Given the description of an element on the screen output the (x, y) to click on. 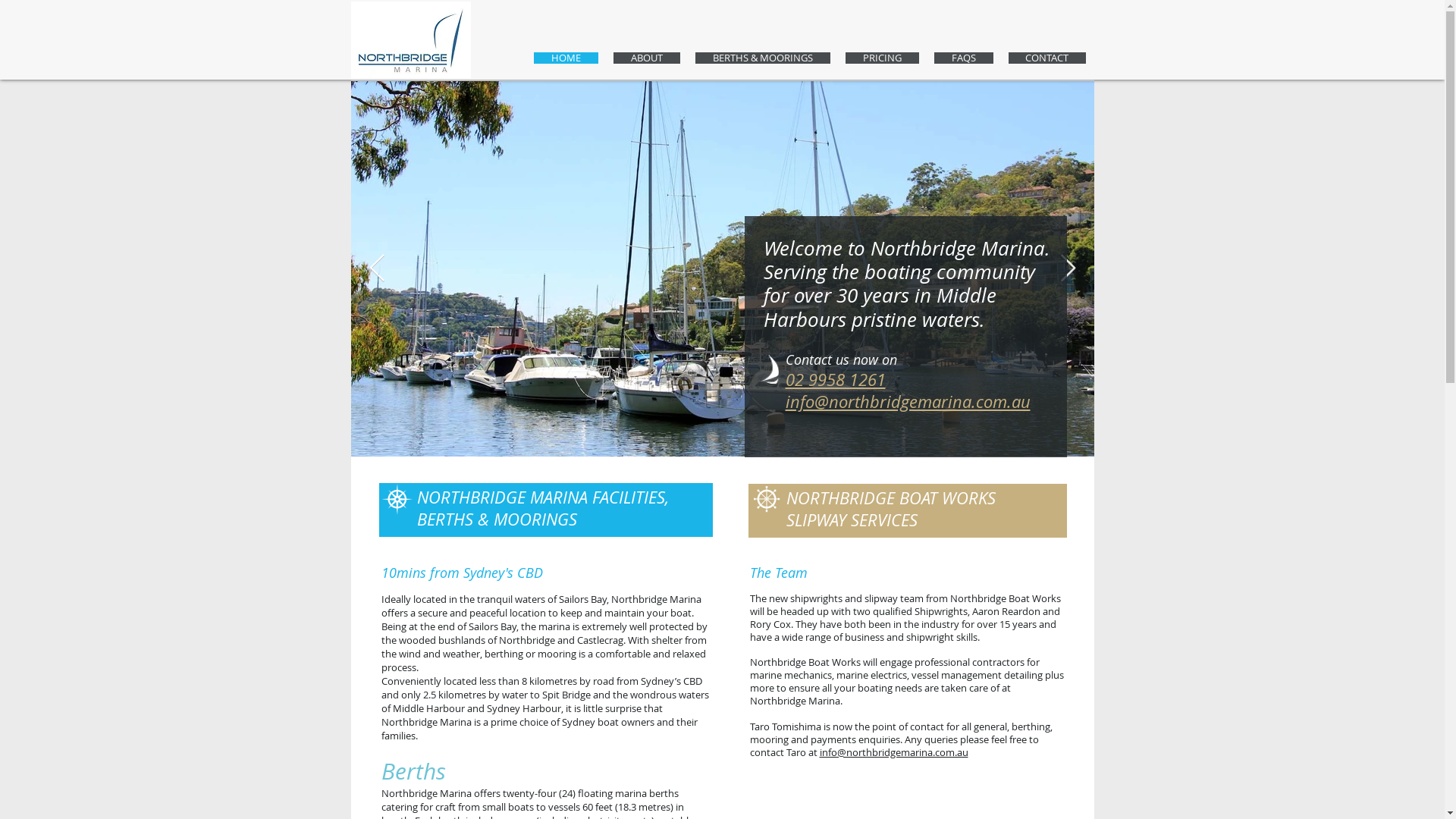
FAQS Element type: text (963, 57)
02 9958 1261 Element type: text (835, 379)
info@northbridgemarina.com.au Element type: text (907, 401)
HOME Element type: text (565, 57)
info@northbridgemarina.com.au Element type: text (893, 752)
Visitor Analytics Element type: hover (1442, 4)
BERTHS & MOORINGS Element type: text (761, 57)
ABOUT Element type: text (645, 57)
CONTACT Element type: text (1046, 57)
PRICING Element type: text (881, 57)
